Given the description of an element on the screen output the (x, y) to click on. 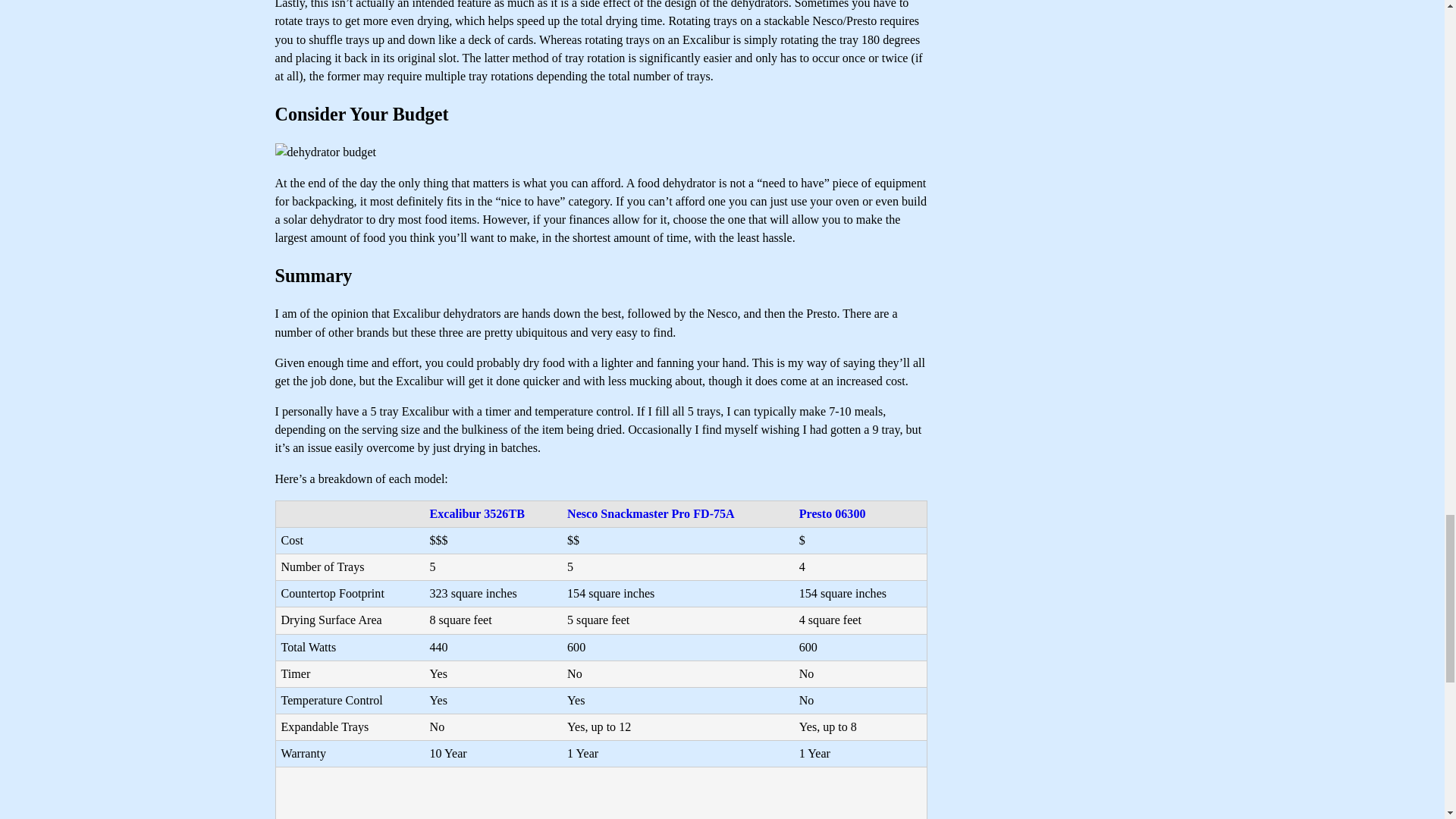
Nesco Snackmaster Pro FD-75A (651, 513)
Excalibur 3526TB (476, 513)
Presto 06300 (832, 513)
